Given the description of an element on the screen output the (x, y) to click on. 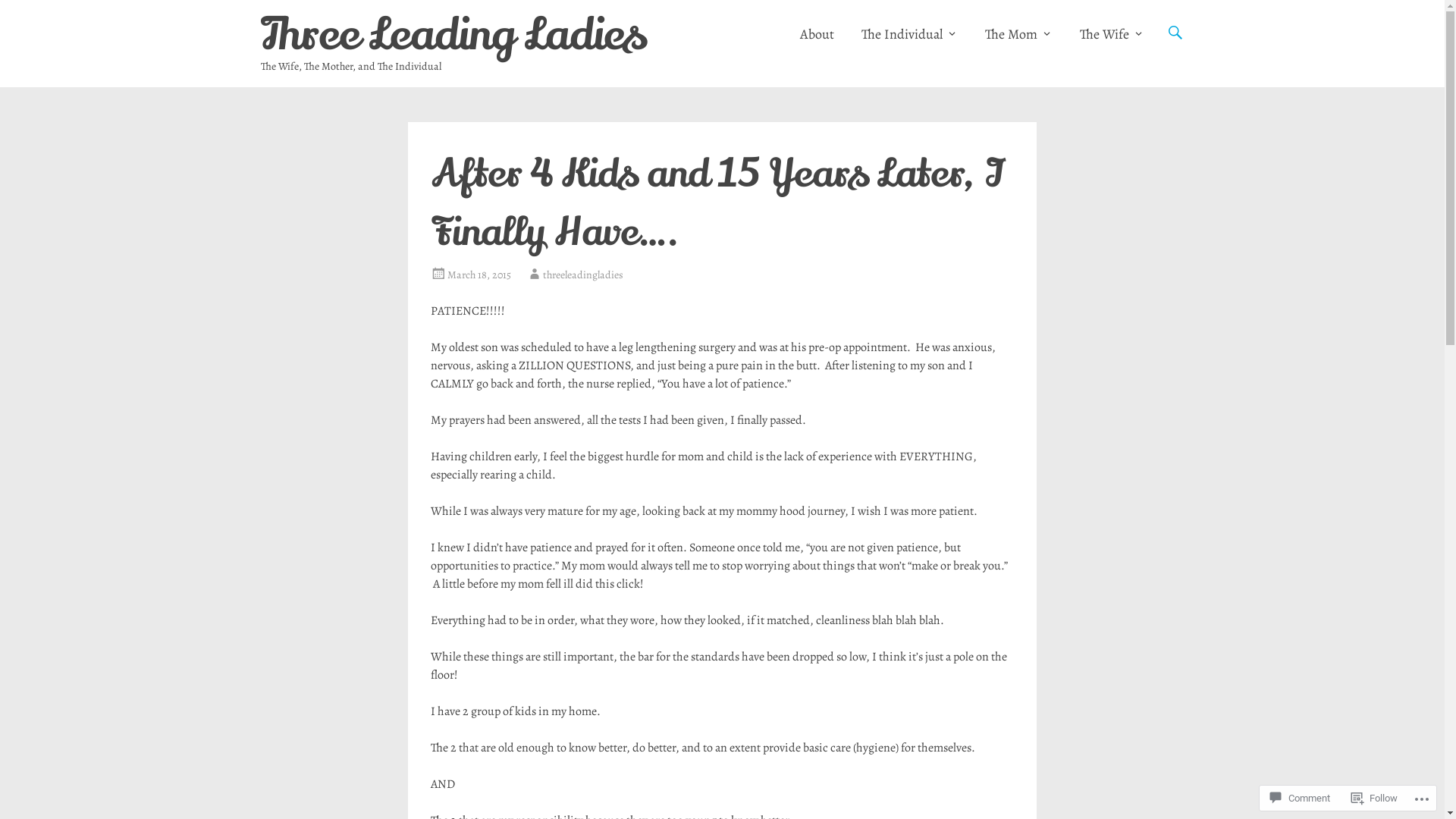
Follow Element type: text (1374, 797)
Three Leading Ladies Element type: text (453, 34)
threeleadingladies Element type: text (582, 274)
The Wife Element type: text (1111, 34)
March 18, 2015 Element type: text (479, 274)
The Individual Element type: text (909, 34)
Comment Element type: text (1300, 797)
The Mom Element type: text (1017, 34)
About Element type: text (816, 34)
